Given the description of an element on the screen output the (x, y) to click on. 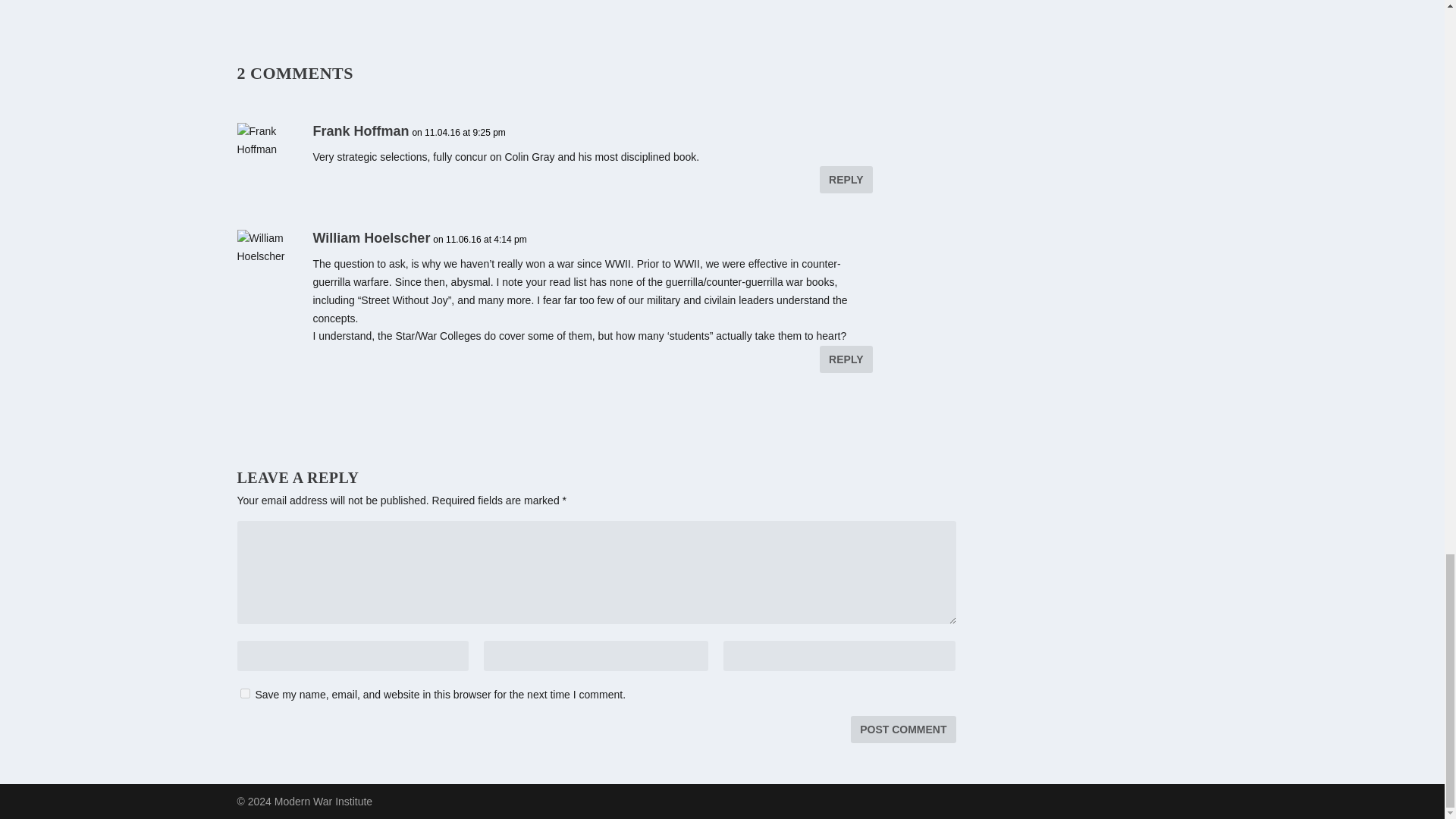
yes (244, 693)
Post Comment (902, 728)
